Given the description of an element on the screen output the (x, y) to click on. 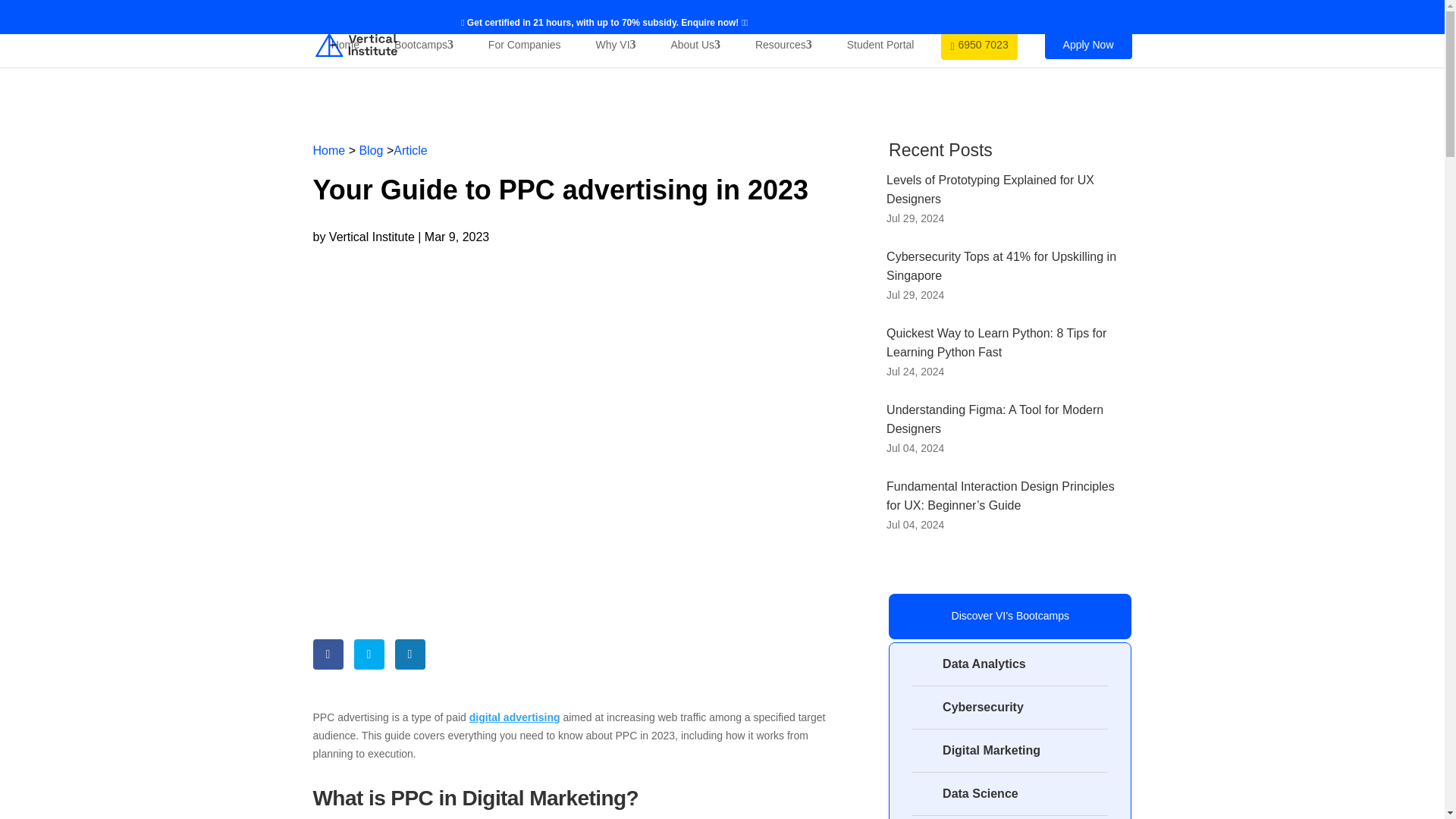
Student Portal (880, 44)
6950 7023 (978, 44)
For Companies (524, 44)
Resources (783, 44)
About Us (695, 44)
Home (329, 150)
Blog (370, 150)
Vertical Institute (371, 236)
Posts by Vertical Institute (371, 236)
